Given the description of an element on the screen output the (x, y) to click on. 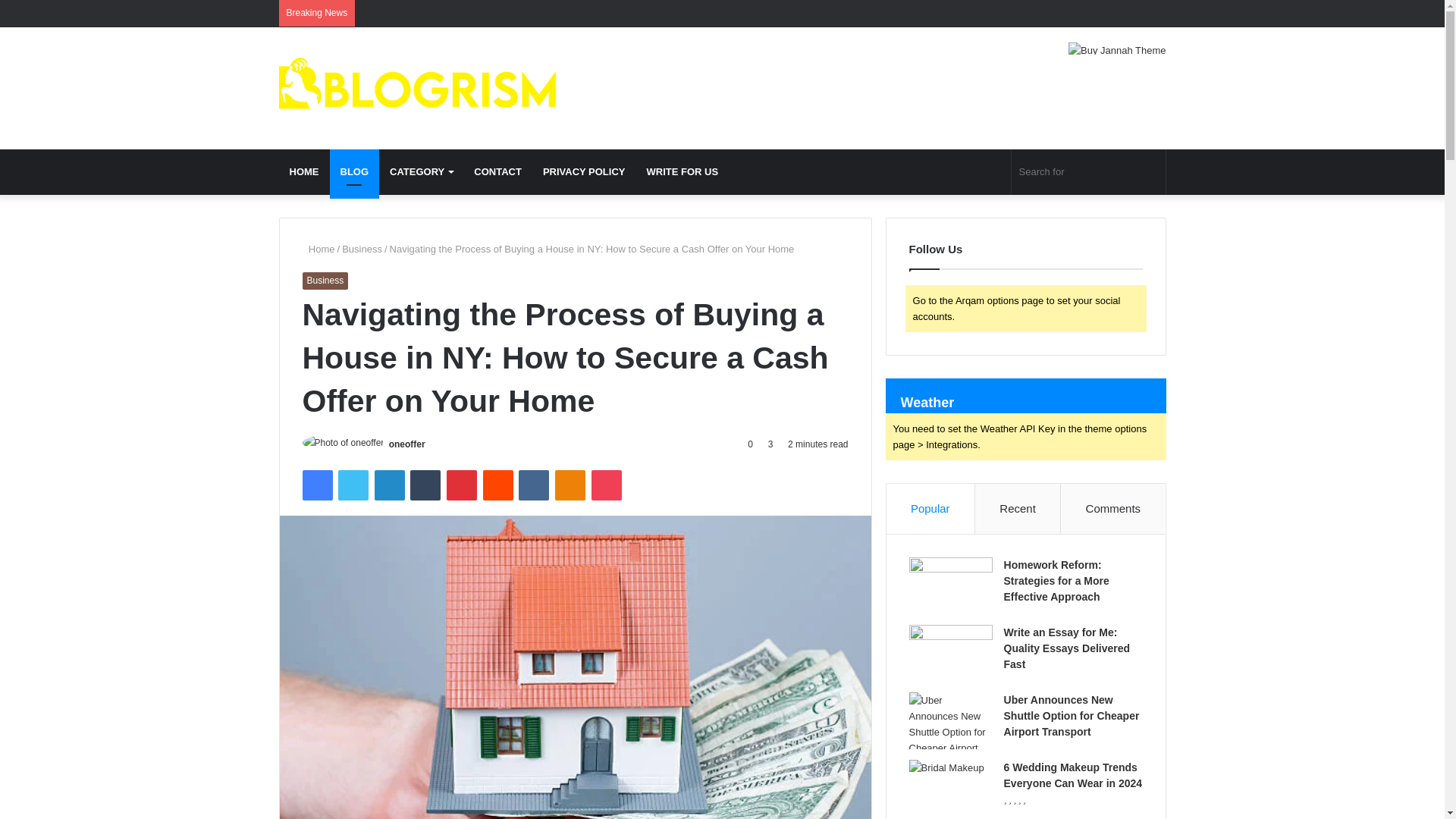
Twitter (1109, 13)
Facebook (316, 485)
Facebook (1086, 13)
Pinterest (461, 485)
Business (361, 248)
PRIVACY POLICY (584, 171)
Twitter (352, 485)
Business (324, 280)
oneoffer (406, 443)
VKontakte (533, 485)
Search for (1088, 171)
Pocket (606, 485)
HOME (304, 171)
Switch skin (991, 171)
